Given the description of an element on the screen output the (x, y) to click on. 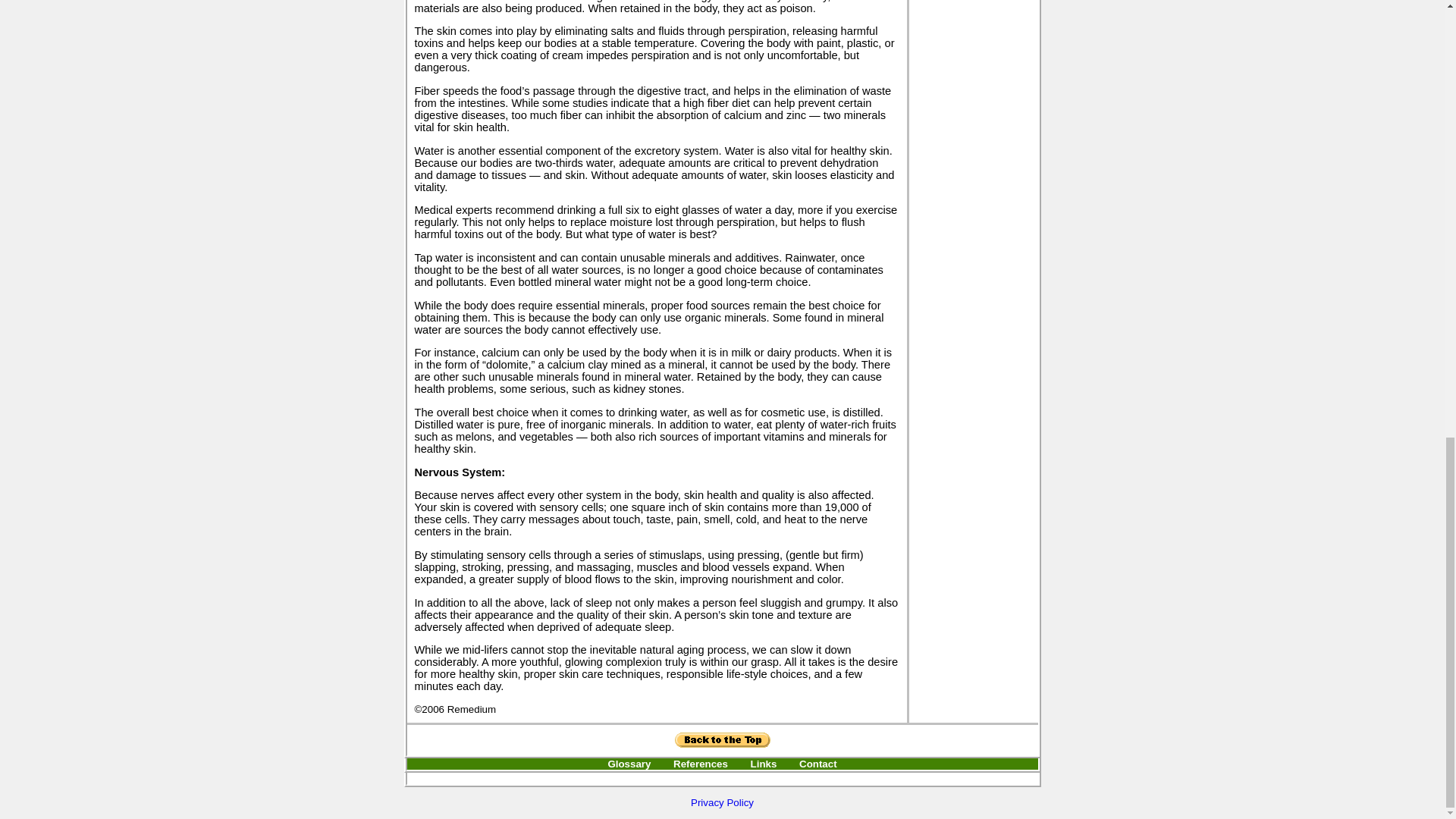
Links (764, 763)
Contact (818, 763)
Advertisement (721, 778)
Privacy Policy (722, 802)
Glossary (628, 763)
References (700, 763)
